Given the description of an element on the screen output the (x, y) to click on. 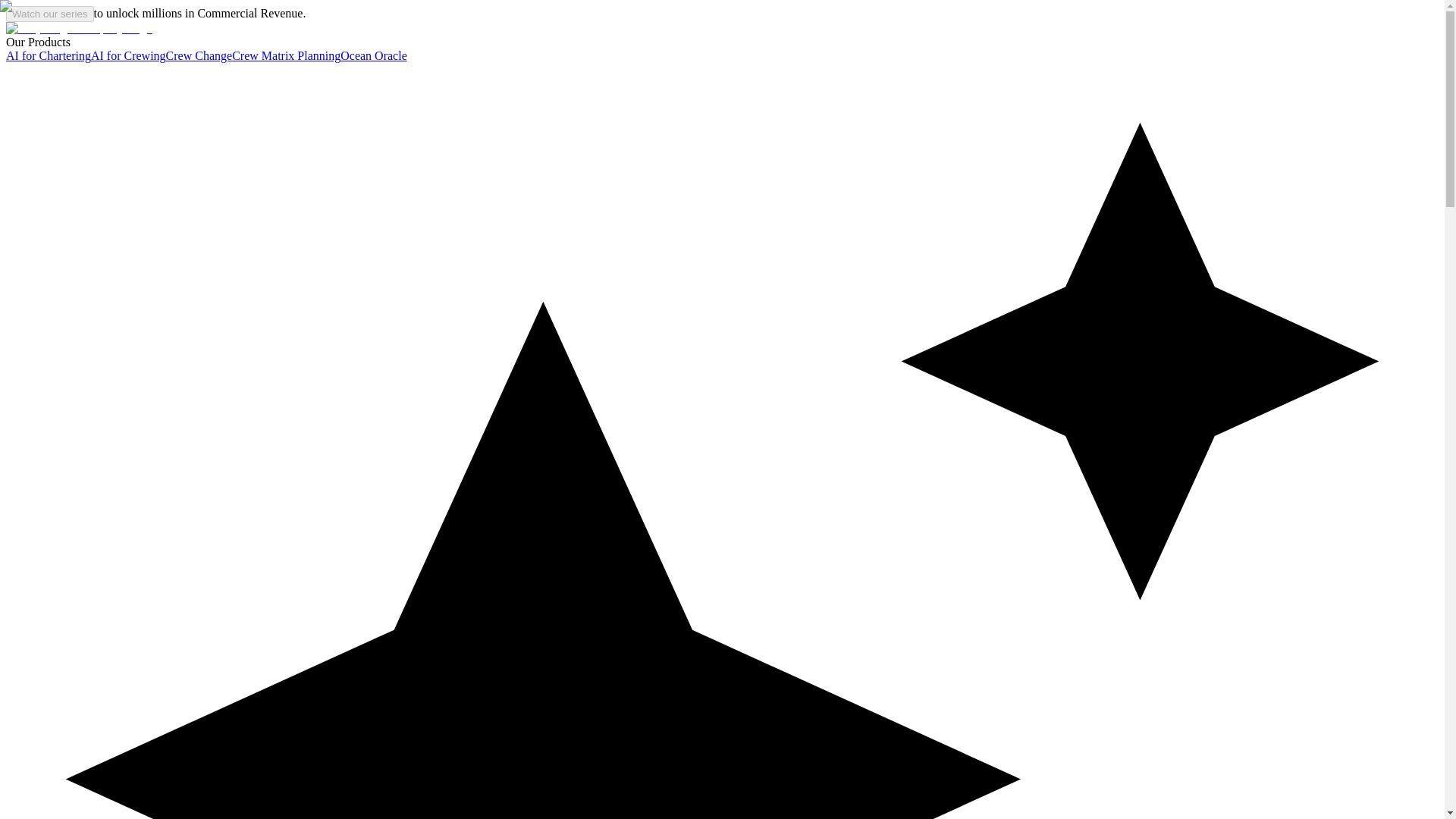
Watch our series (49, 13)
AI for Chartering (47, 55)
Ocean Oracle (373, 55)
Crew Change (198, 55)
AI for Crewing (127, 55)
Crew Matrix Planning (285, 55)
